Given the description of an element on the screen output the (x, y) to click on. 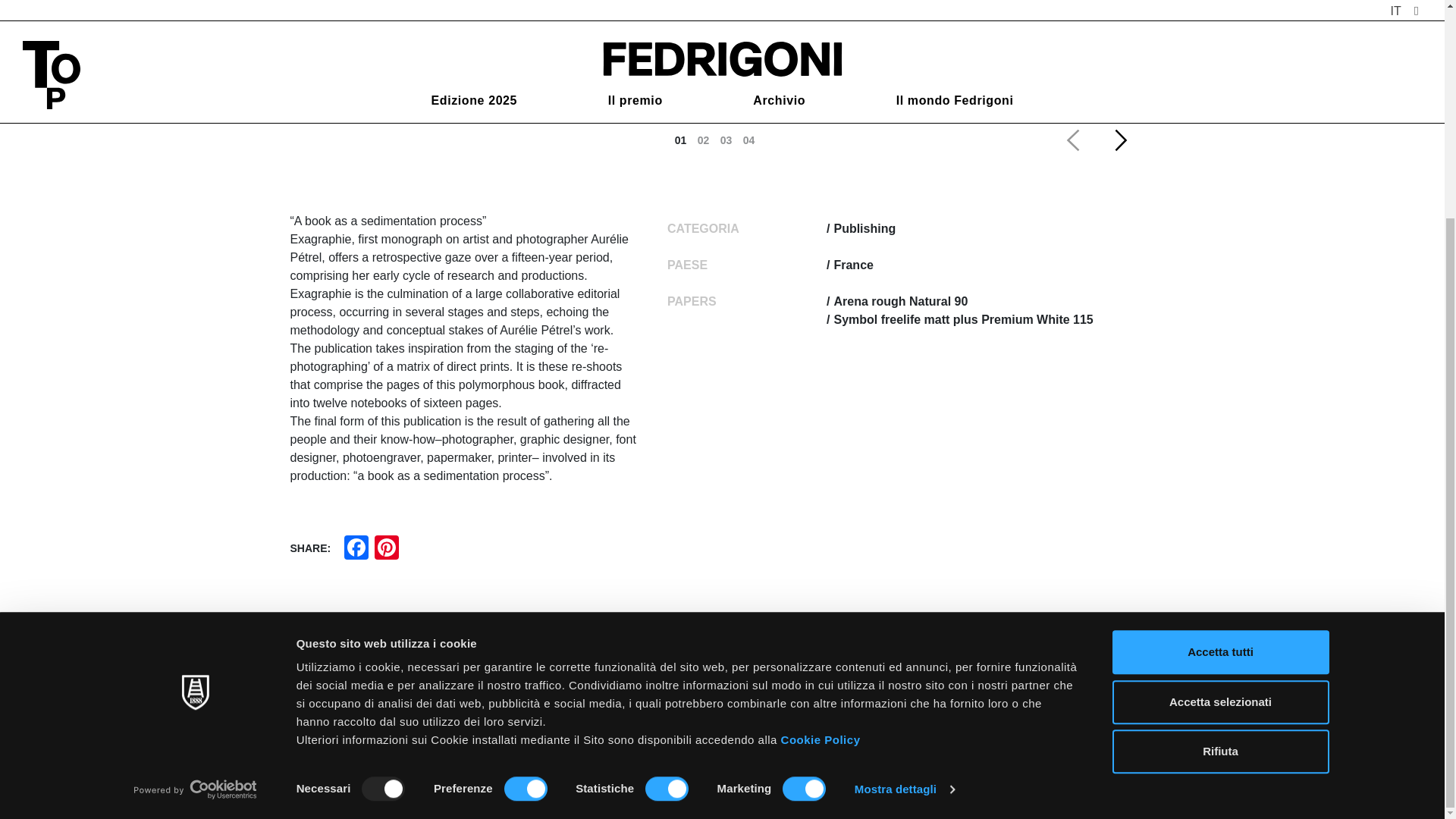
Accetta selezionati (1219, 413)
Rifiuta (1219, 463)
Mostra dettagli (904, 500)
Cookie Policy (820, 451)
